Given the description of an element on the screen output the (x, y) to click on. 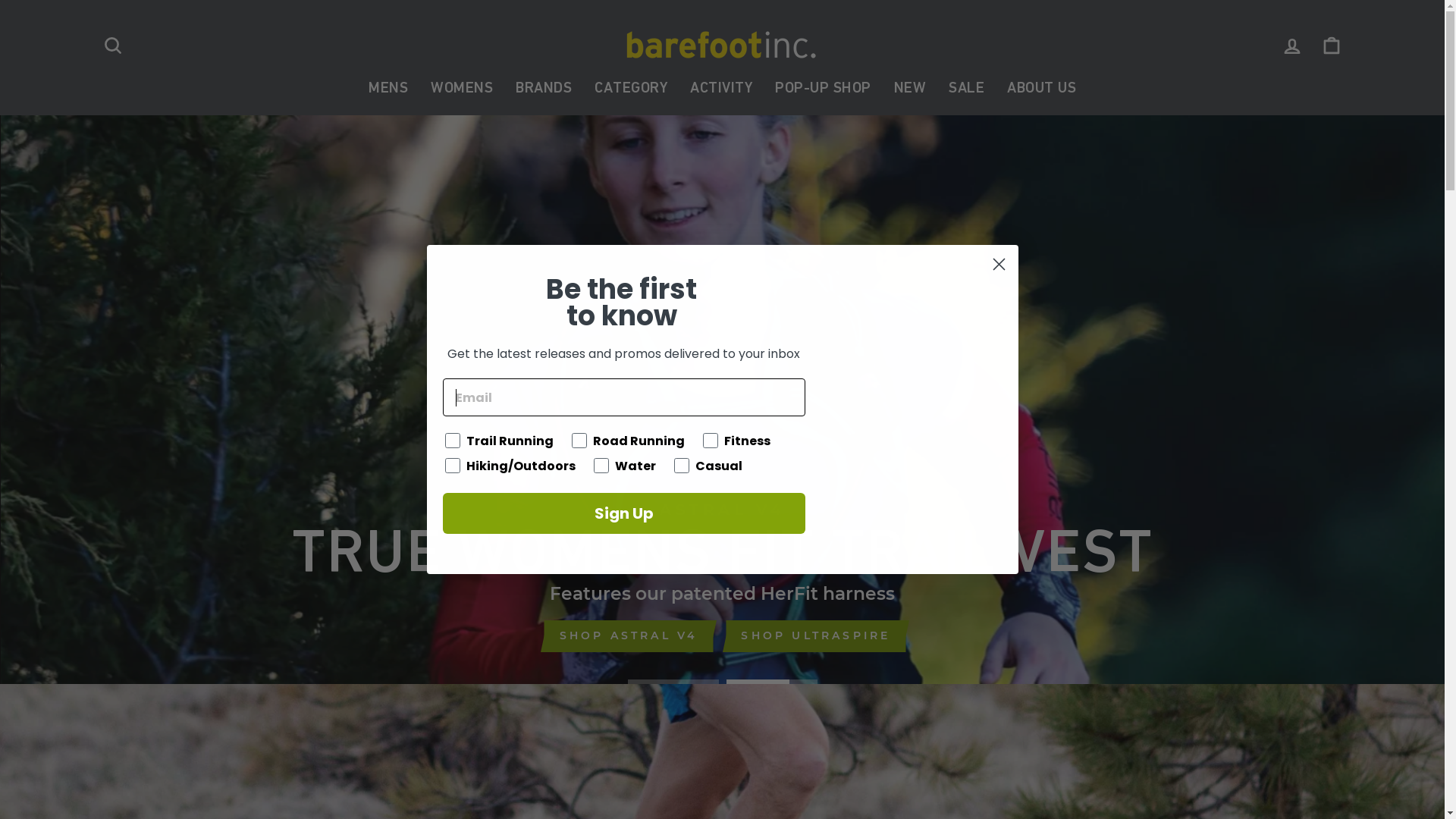
MENS Element type: text (388, 88)
Skip to content Element type: text (0, 0)
Search Element type: text (112, 44)
SALE Element type: text (966, 88)
Log in Element type: text (1291, 44)
WOMENS Element type: text (461, 88)
SHOP ULTRASPIRE Element type: text (815, 636)
NEW Element type: text (910, 88)
SHOP ASTRAL V4 Element type: text (628, 636)
BRANDS Element type: text (543, 88)
POP-UP SHOP Element type: text (822, 88)
ACTIVITY Element type: text (720, 88)
Cart Element type: text (1331, 44)
ABOUT US Element type: text (1041, 88)
CATEGORY Element type: text (630, 88)
